Given the description of an element on the screen output the (x, y) to click on. 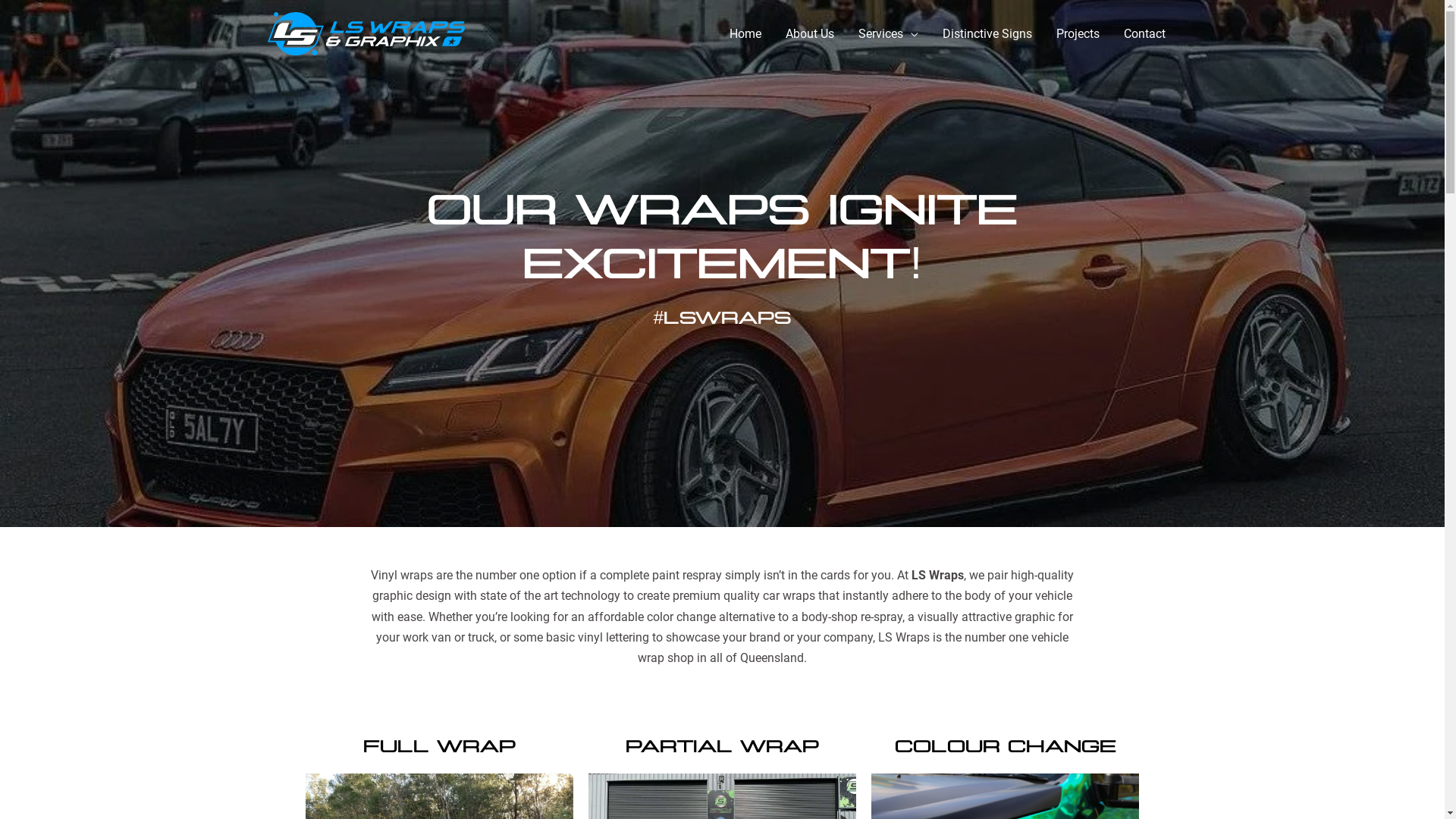
About Us Element type: text (809, 33)
Projects Element type: text (1076, 33)
Contact Element type: text (1144, 33)
Services Element type: text (888, 33)
Distinctive Signs Element type: text (986, 33)
Home Element type: text (745, 33)
